Given the description of an element on the screen output the (x, y) to click on. 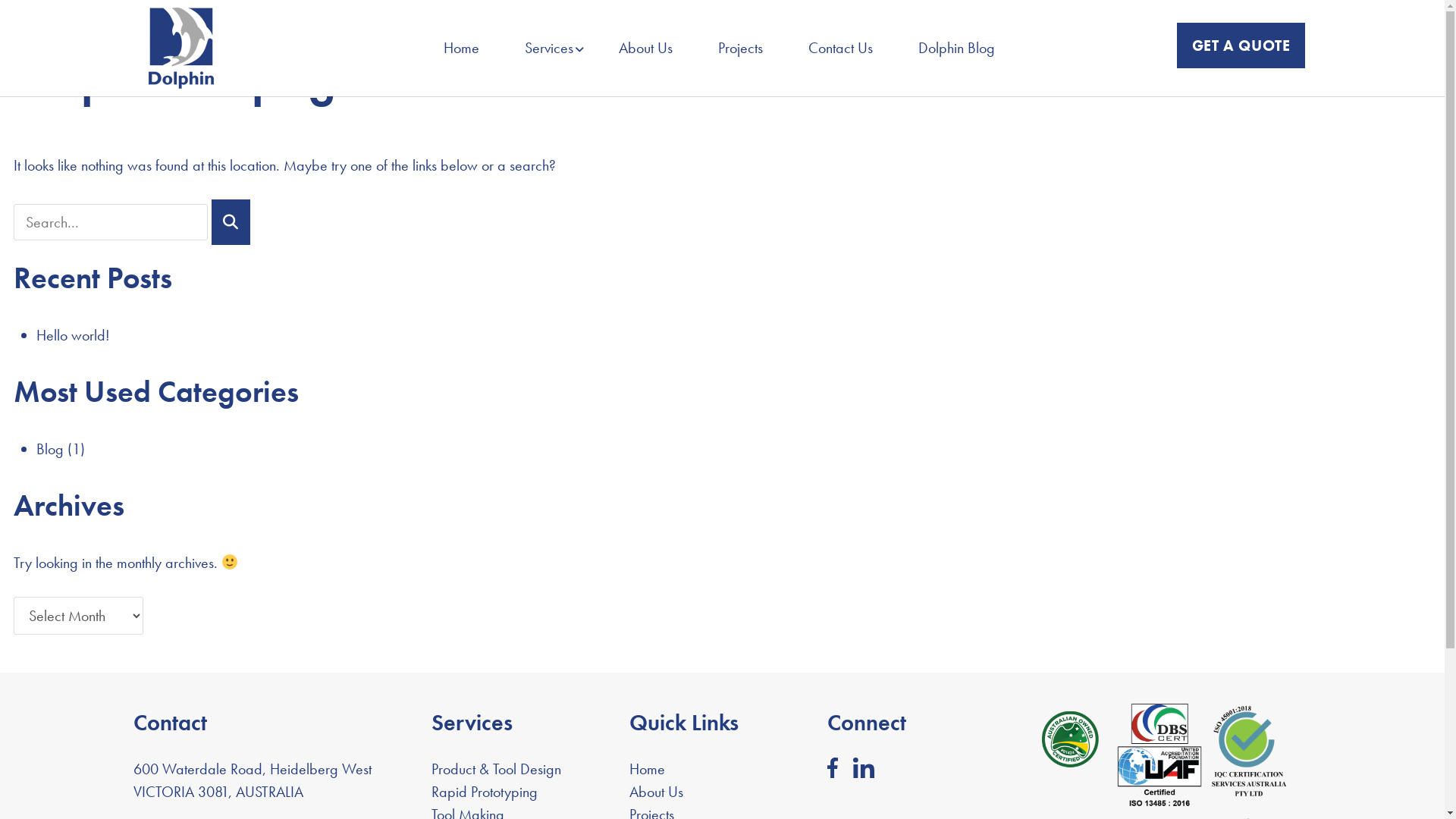
Home Element type: text (647, 768)
Hello world! Element type: text (72, 334)
Projects Element type: text (740, 47)
Dolphin Blog Element type: text (956, 47)
GET A QUOTE Element type: text (1240, 45)
Home Element type: text (461, 47)
Blog Element type: text (49, 448)
Rapid Prototyping Element type: text (484, 790)
Contact Us Element type: text (840, 47)
Product & Tool Design Element type: text (496, 768)
About Us Element type: text (656, 790)
600 Waterdale Road, Heidelberg West VICTORIA 3081, AUSTRALIA Element type: text (252, 779)
About Us Element type: text (645, 47)
Services Element type: text (548, 47)
